Given the description of an element on the screen output the (x, y) to click on. 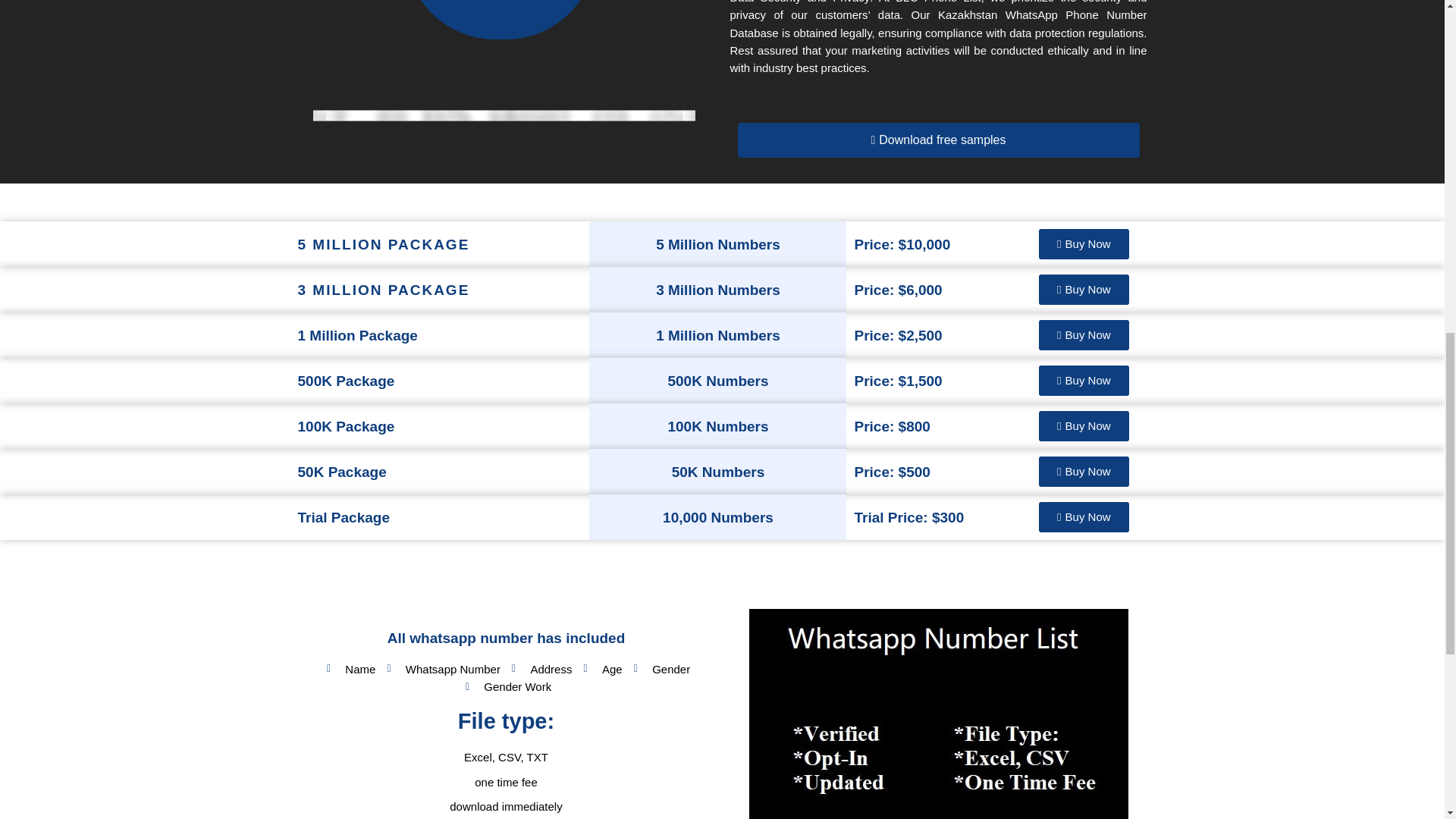
Buy Now (1084, 289)
Buy Now (1084, 244)
Buy Now (1084, 517)
Download free samples (937, 140)
Buy Now (1084, 335)
Buy Now (1084, 426)
Buy Now (1084, 380)
Buy Now (1084, 471)
